Given the description of an element on the screen output the (x, y) to click on. 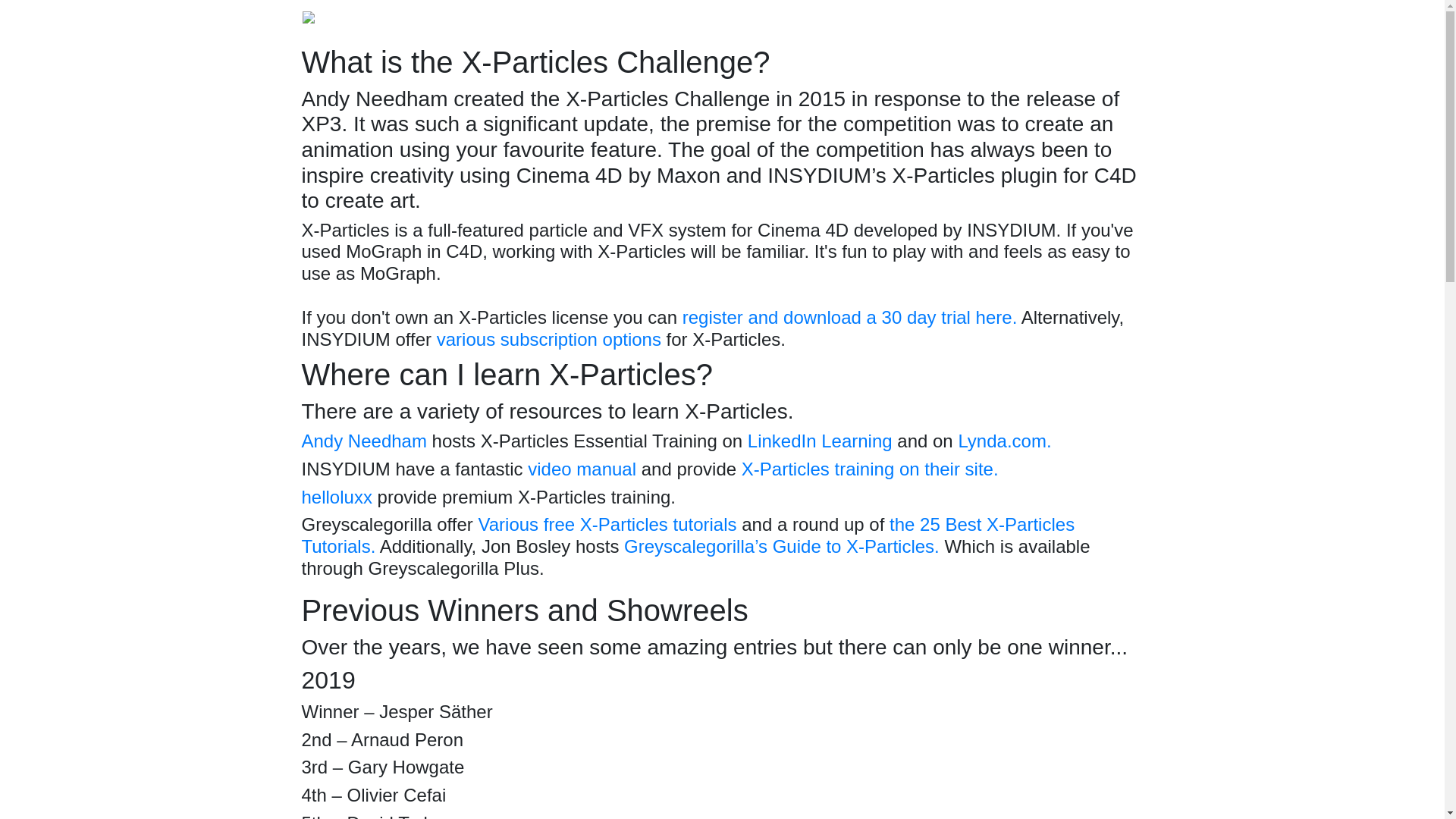
the 25 Best X-Particles Tutorials. (688, 535)
About (847, 21)
Showreels (904, 21)
Rules (1069, 21)
various subscription options (548, 339)
LinkedIn Learning (820, 440)
Judges (1116, 21)
Lynda.com. (1004, 440)
video manual (581, 468)
Prizes (961, 21)
